Given the description of an element on the screen output the (x, y) to click on. 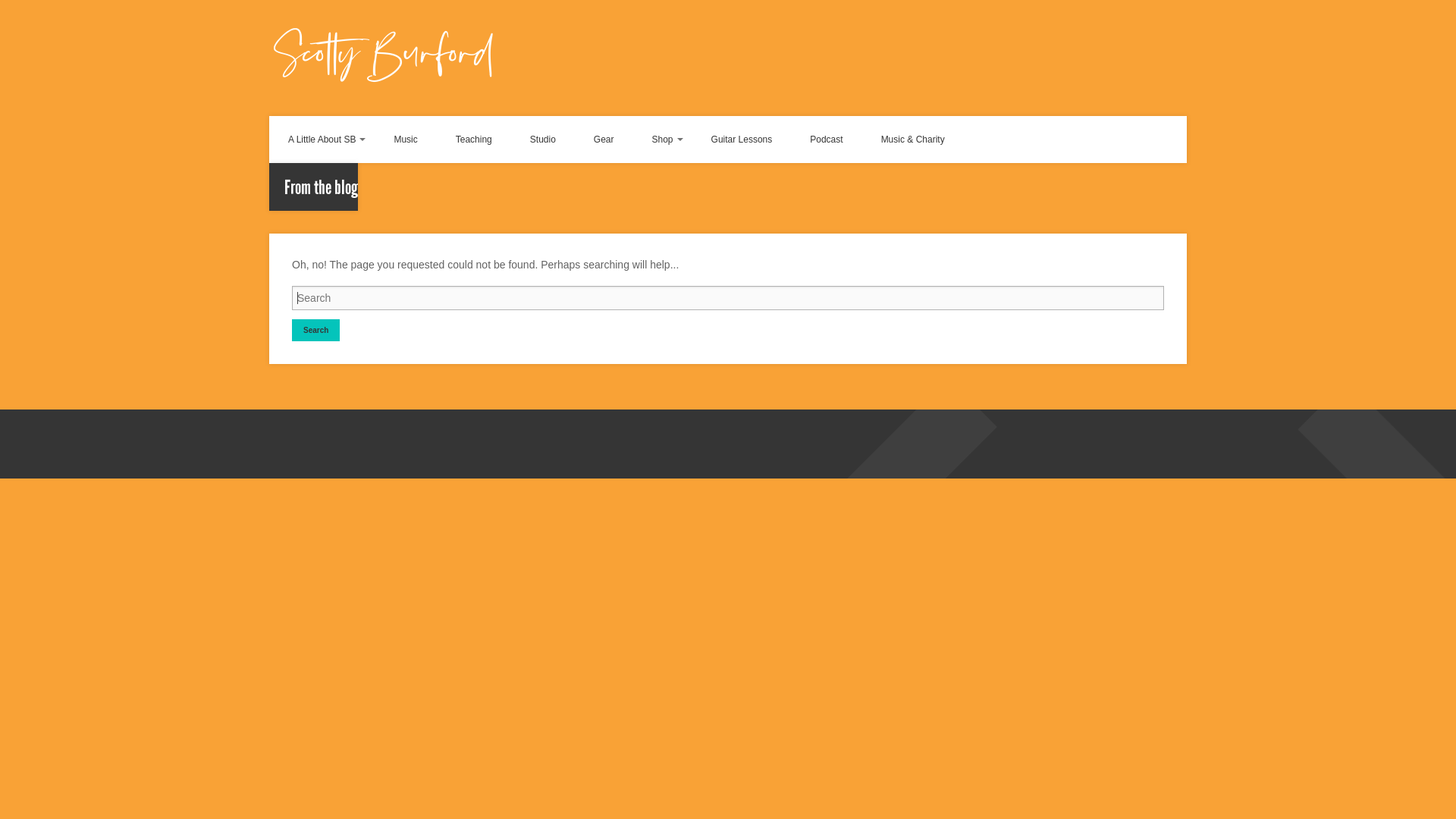
Music Element type: text (405, 139)
Teaching Element type: text (473, 139)
Studio Element type: text (542, 139)
A Little About SB Element type: text (321, 139)
Guitar Lessons Element type: text (741, 139)
Music & Charity Element type: text (912, 139)
Shop Element type: text (662, 139)
Gear Element type: text (603, 139)
Search Element type: text (315, 330)
Podcast Element type: text (825, 139)
